Given the description of an element on the screen output the (x, y) to click on. 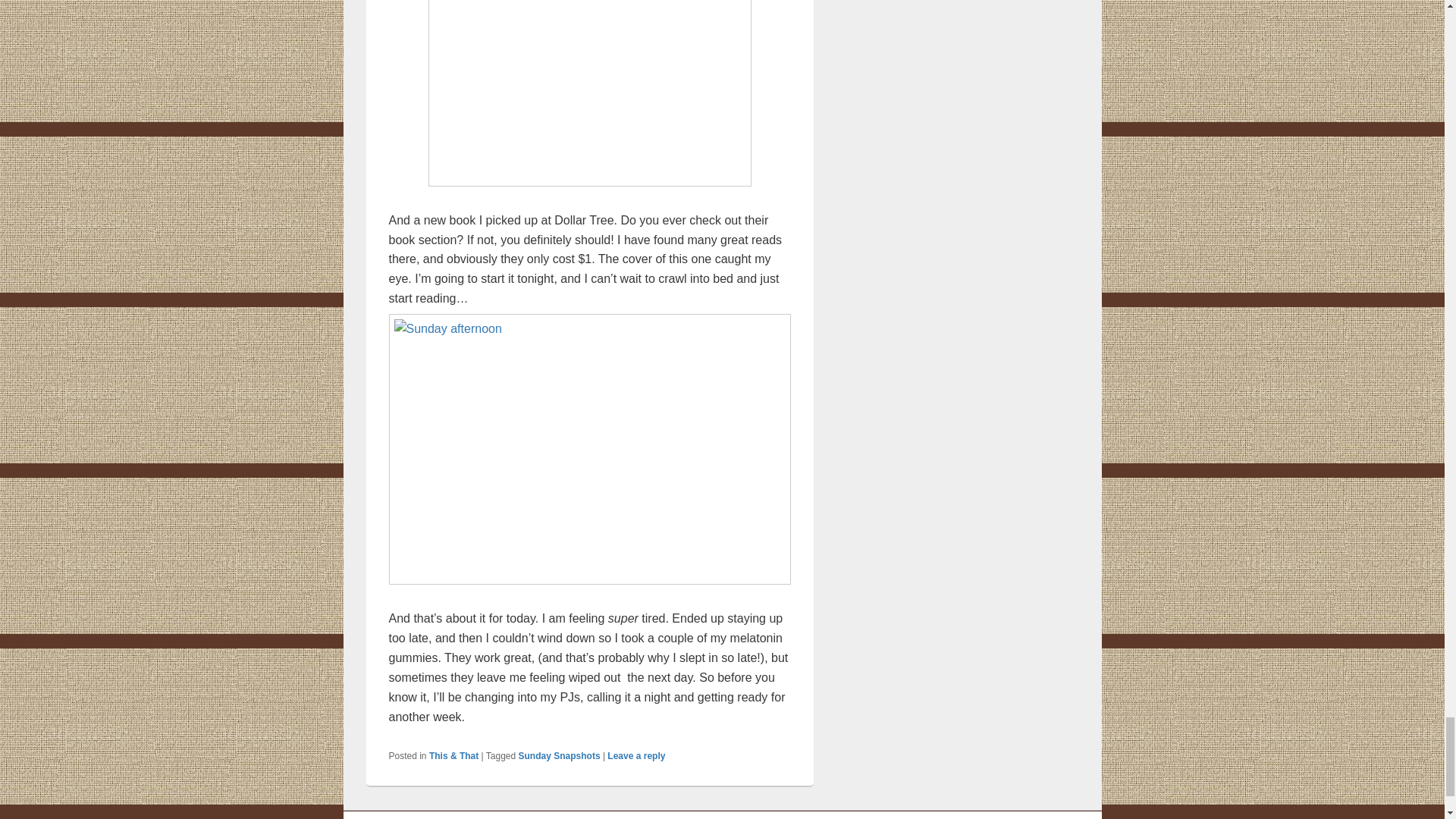
Sunday Snapshots (558, 756)
Leave a reply (636, 756)
